Given the description of an element on the screen output the (x, y) to click on. 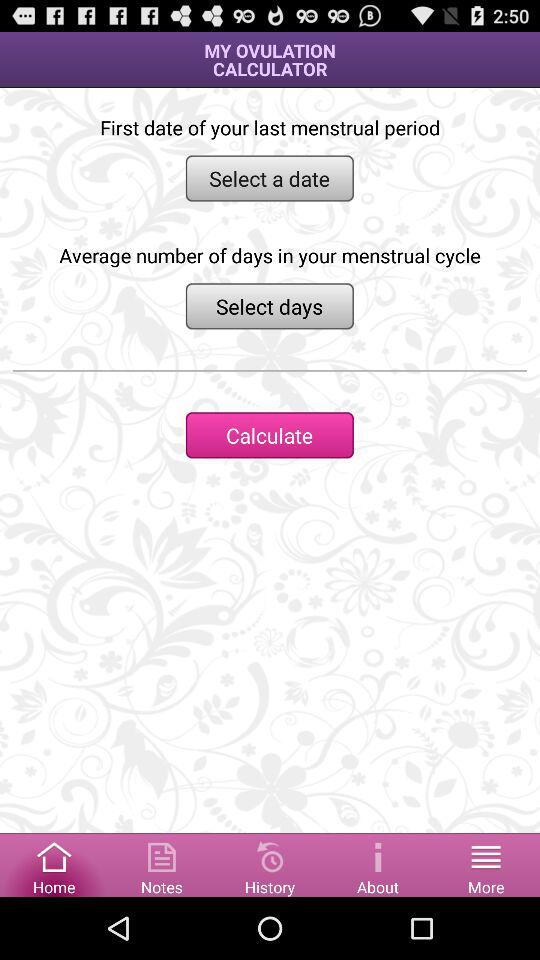
more options (486, 864)
